Given the description of an element on the screen output the (x, y) to click on. 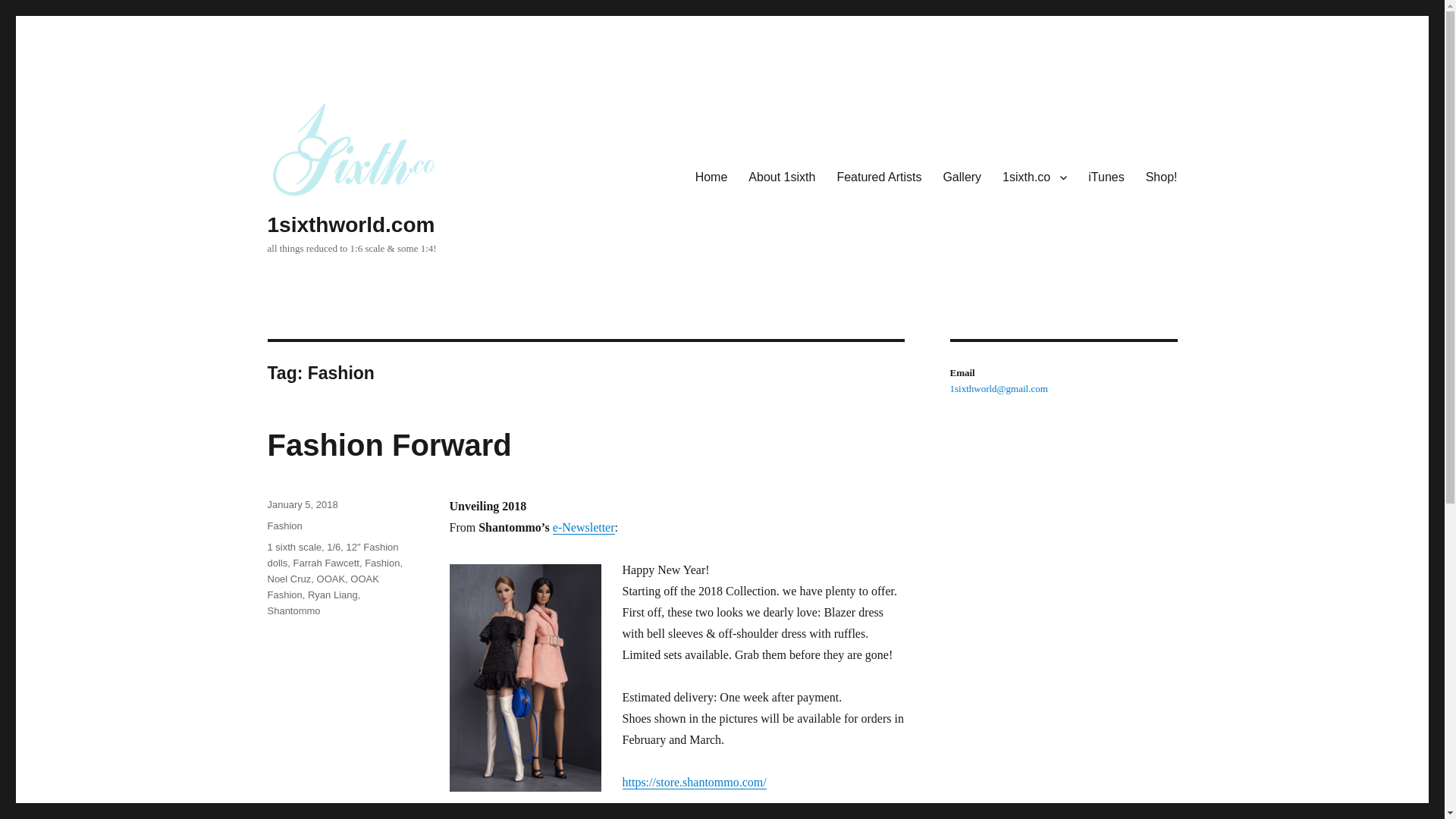
1sixthworld.com (349, 224)
1 sixth scale (293, 546)
Featured Artists (878, 177)
Fashion (283, 525)
Home (711, 177)
About 1sixth (781, 177)
e-Newsletter (583, 526)
Shop! (1161, 177)
Shantommo (293, 610)
Noel Cruz (288, 578)
January 5, 2018 (301, 504)
Gallery (961, 177)
Fashion (381, 562)
1sixth.co (1034, 177)
Ryan Liang (332, 594)
